Given the description of an element on the screen output the (x, y) to click on. 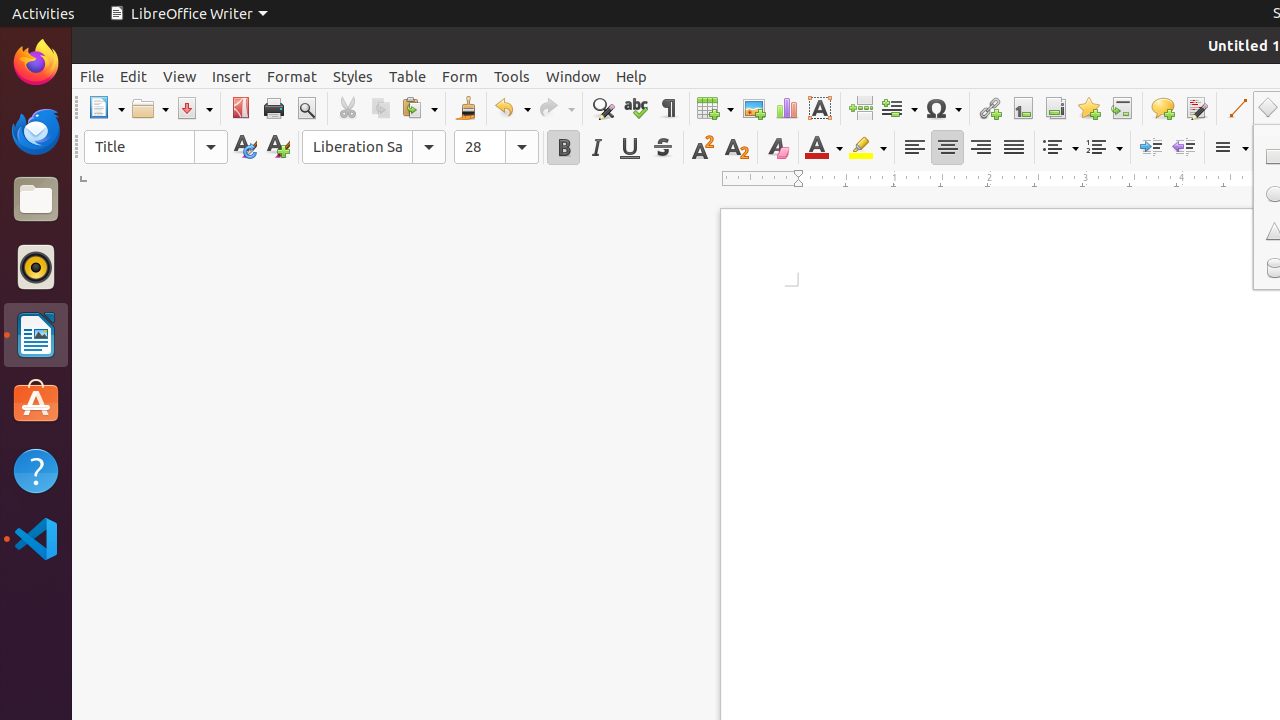
Help Element type: push-button (36, 470)
Table Element type: menu (407, 76)
Files Element type: push-button (36, 199)
Window Element type: menu (573, 76)
Comment Element type: push-button (1162, 108)
